Given the description of an element on the screen output the (x, y) to click on. 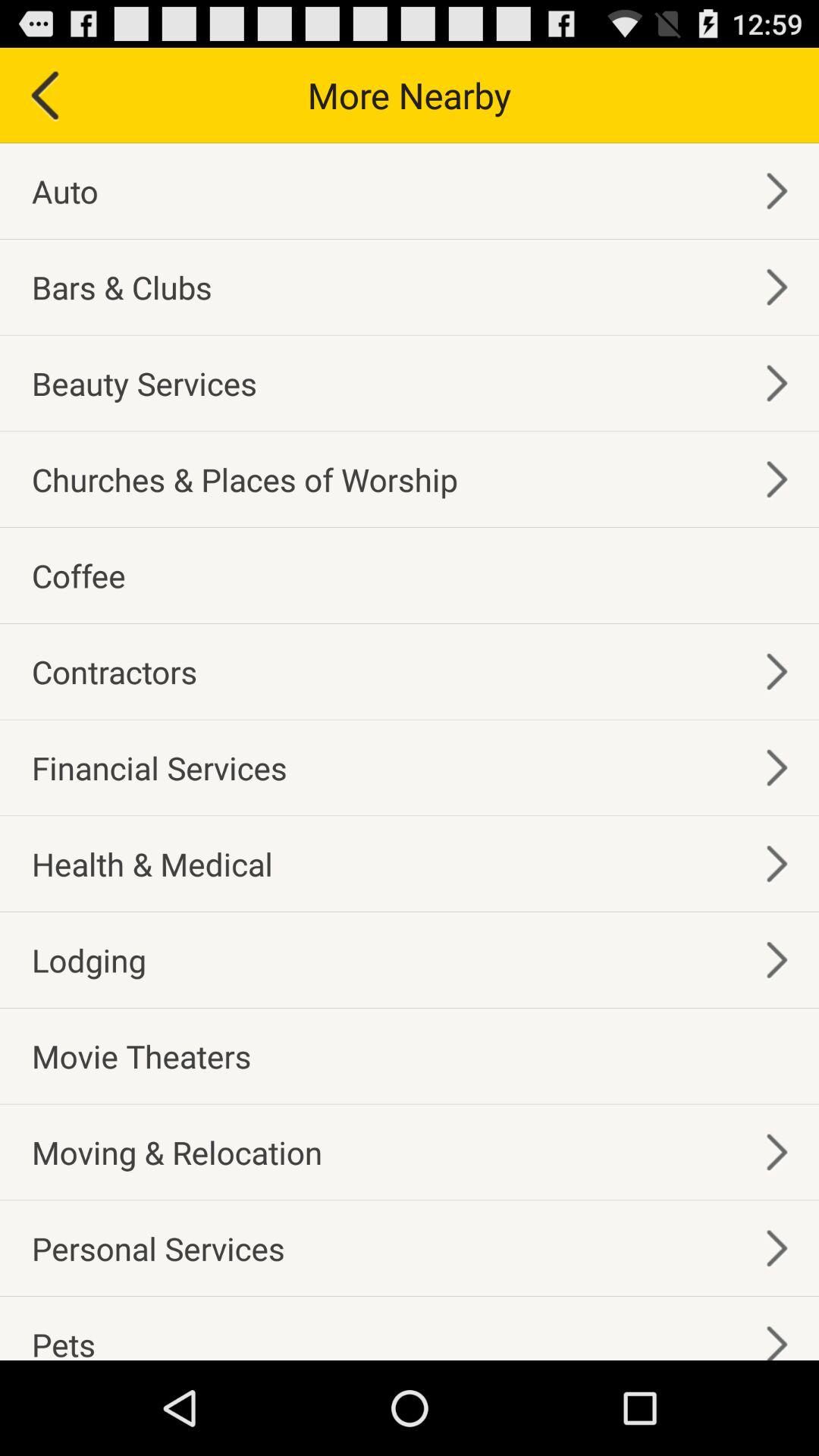
swipe until pets icon (63, 1341)
